Given the description of an element on the screen output the (x, y) to click on. 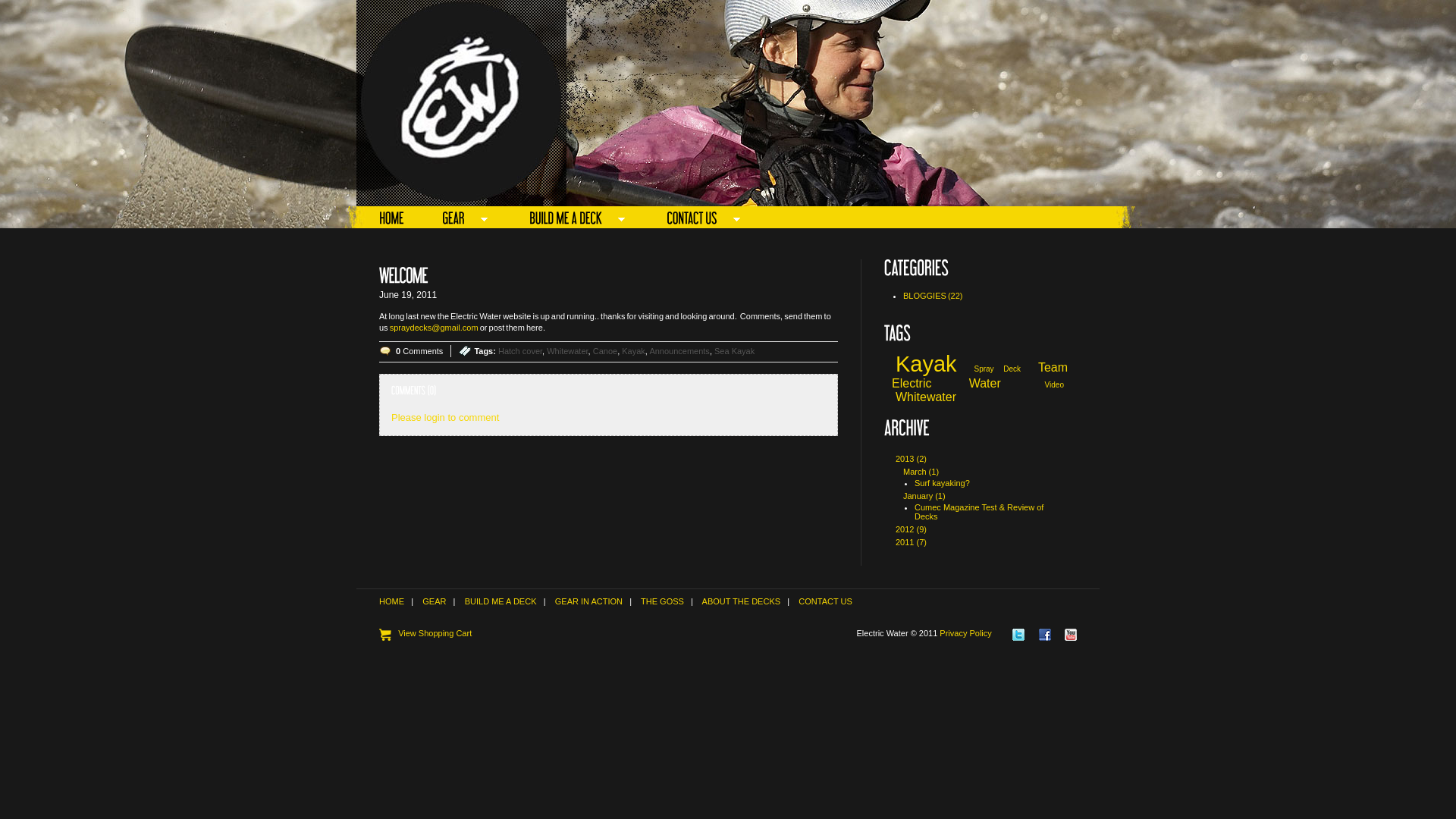
BUILD ME A DECK Element type: text (500, 600)
Hatch cover Element type: text (520, 350)
GEAR Element type: text (433, 600)
2012 (9) Element type: text (910, 528)
Sea Kayak Element type: text (734, 350)
Surf kayaking? Element type: text (941, 482)
Please login to comment Element type: text (444, 416)
Canoe Element type: text (605, 350)
January (1) Element type: text (924, 495)
Announcements Element type: text (679, 350)
Video Element type: text (1053, 384)
ABOUT THE DECKS Element type: text (741, 600)
Whitewater Element type: text (566, 350)
CONTACT US Element type: text (825, 600)
2013 (2) Element type: text (910, 458)
HOME Element type: text (395, 219)
HOME Element type: text (391, 600)
Team Electric Water Element type: text (979, 374)
spraydecks@gmail.com Element type: text (433, 327)
Spray Deck Element type: text (996, 368)
Kayak Element type: text (926, 363)
Kayak Element type: text (633, 350)
Cumec Magazine Test & Review of Decks Element type: text (978, 511)
2011 (7) Element type: text (910, 541)
GEAR IN ACTION Element type: text (588, 600)
Whitewater Element type: text (925, 396)
March (1) Element type: text (920, 471)
THE GOSS Element type: text (662, 600)
Privacy Policy Element type: text (965, 632)
BLOGGIES (22) Element type: text (983, 295)
   View Shopping Cart Element type: text (425, 632)
